Given the description of an element on the screen output the (x, y) to click on. 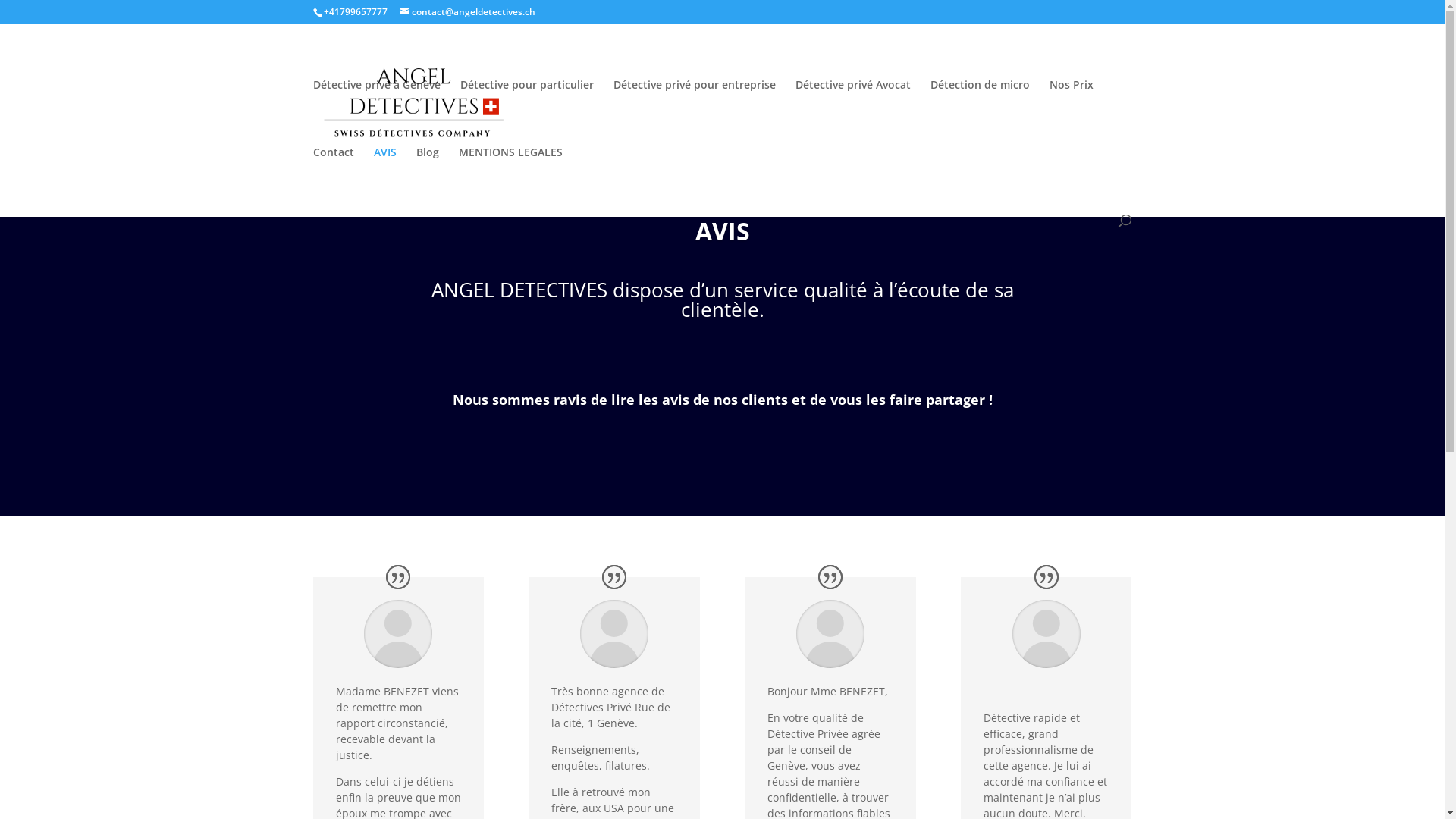
AVIS Element type: text (384, 180)
Blog Element type: text (426, 180)
contact@angeldetectives.ch Element type: text (466, 11)
Contact Element type: text (332, 180)
Nos Prix Element type: text (1071, 113)
MENTIONS LEGALES Element type: text (509, 180)
